Given the description of an element on the screen output the (x, y) to click on. 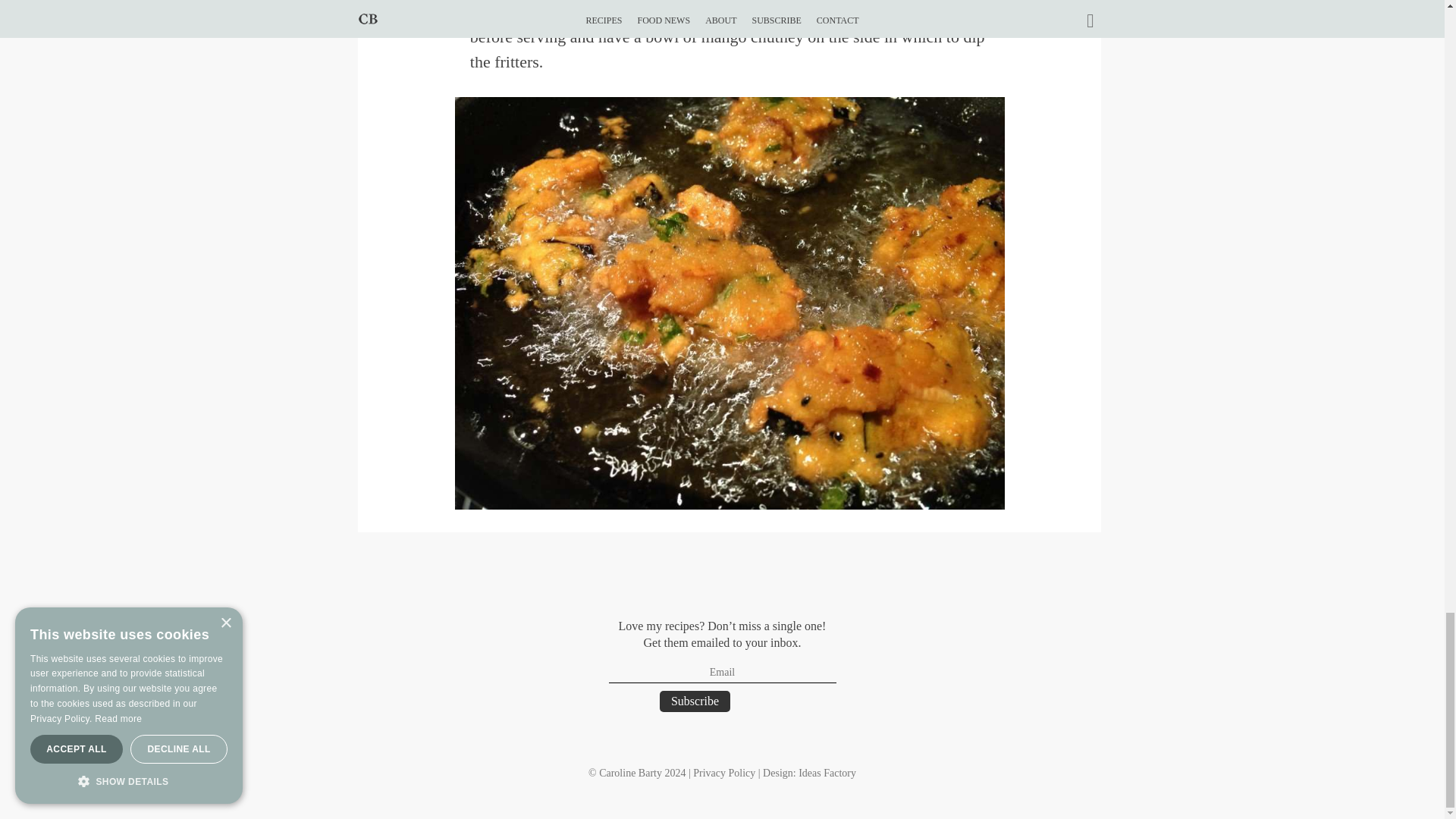
Subscribe (694, 701)
Ideas Factory (826, 772)
Subscribe (694, 701)
Privacy Policy (724, 772)
